Given the description of an element on the screen output the (x, y) to click on. 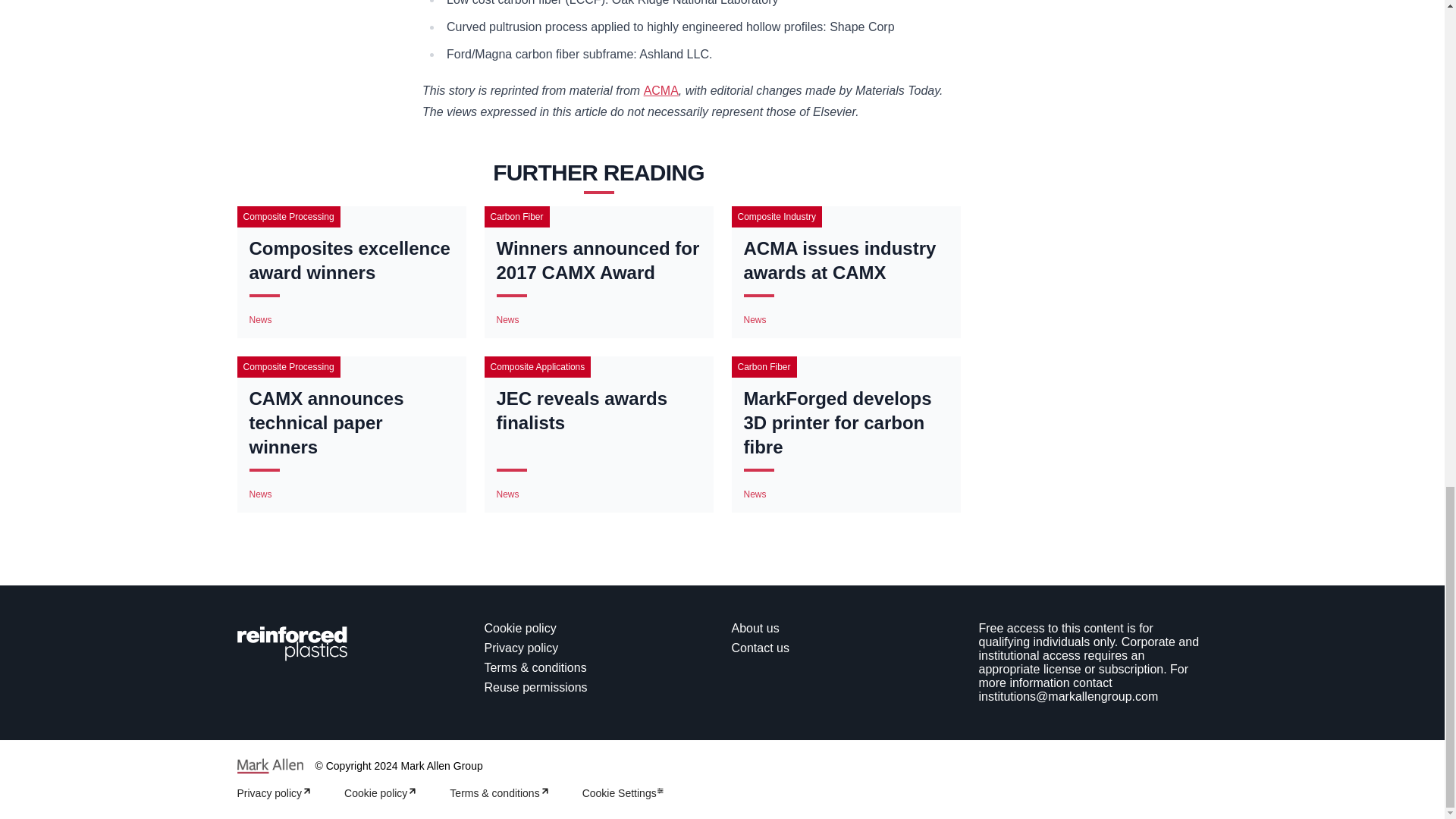
Winners announced for 2017 CAMX Award (598, 260)
Composites excellence award winners (350, 260)
CAMX announces technical paper winners (350, 422)
News (753, 319)
News (259, 493)
ACMA (660, 90)
JEC reveals awards finalists (598, 410)
ACMA issues industry awards at CAMX (844, 260)
News (259, 319)
News (507, 493)
